Given the description of an element on the screen output the (x, y) to click on. 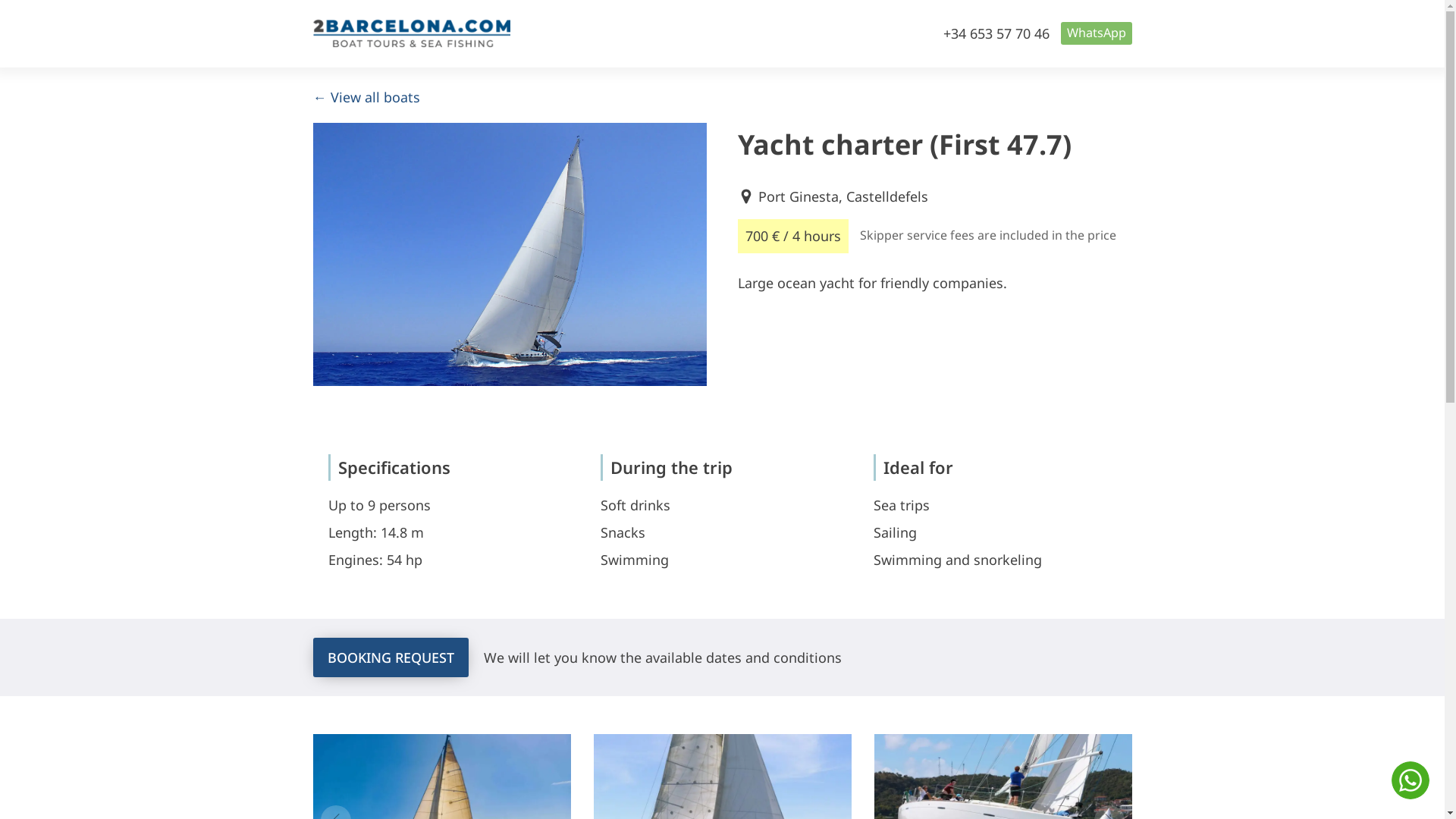
WhatsApp Element type: text (1095, 32)
BOOKING REQUEST Element type: text (389, 657)
